Given the description of an element on the screen output the (x, y) to click on. 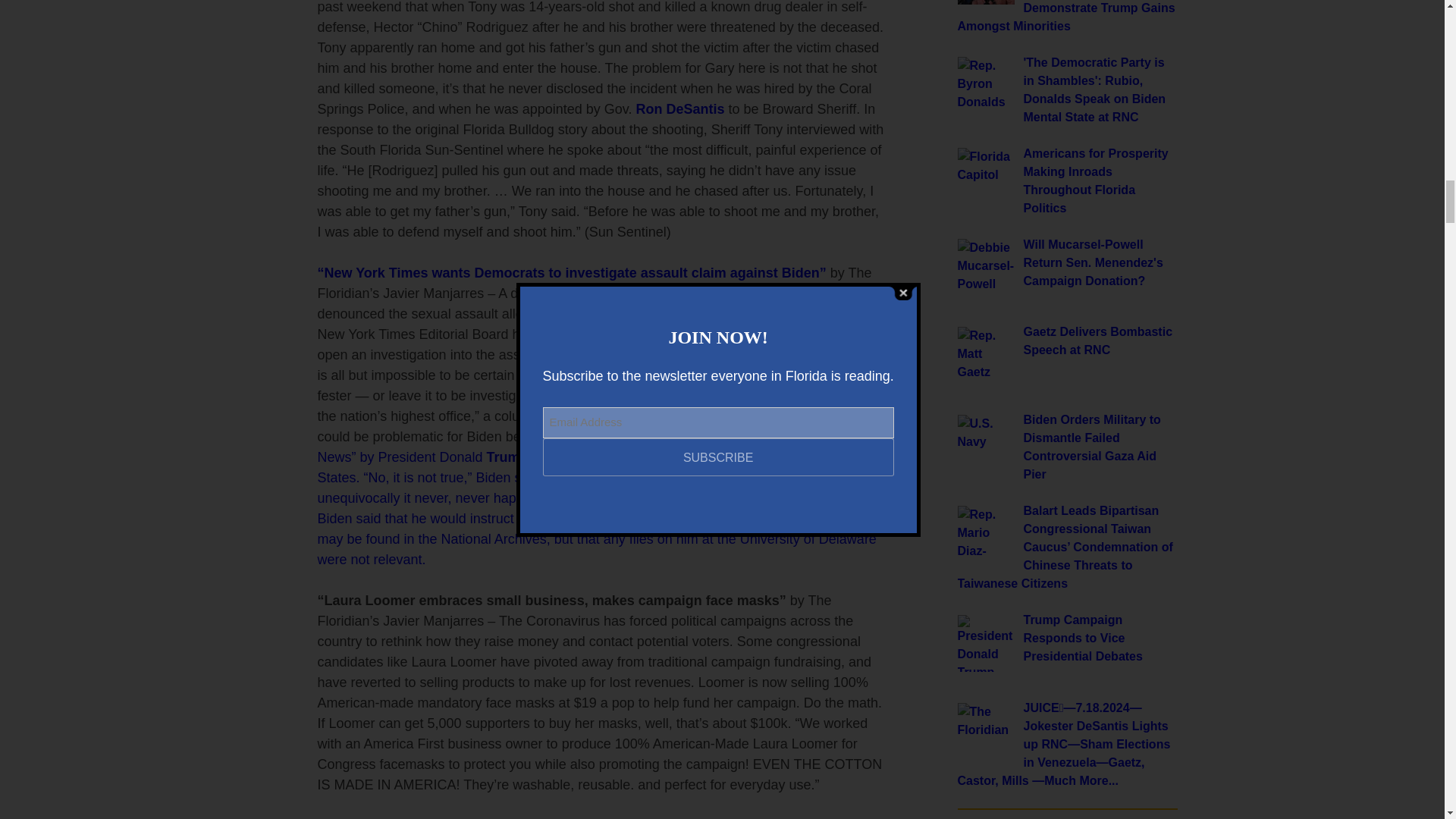
Trump (507, 457)
Ron DeSantis (678, 109)
Joe Biden (730, 293)
